Given the description of an element on the screen output the (x, y) to click on. 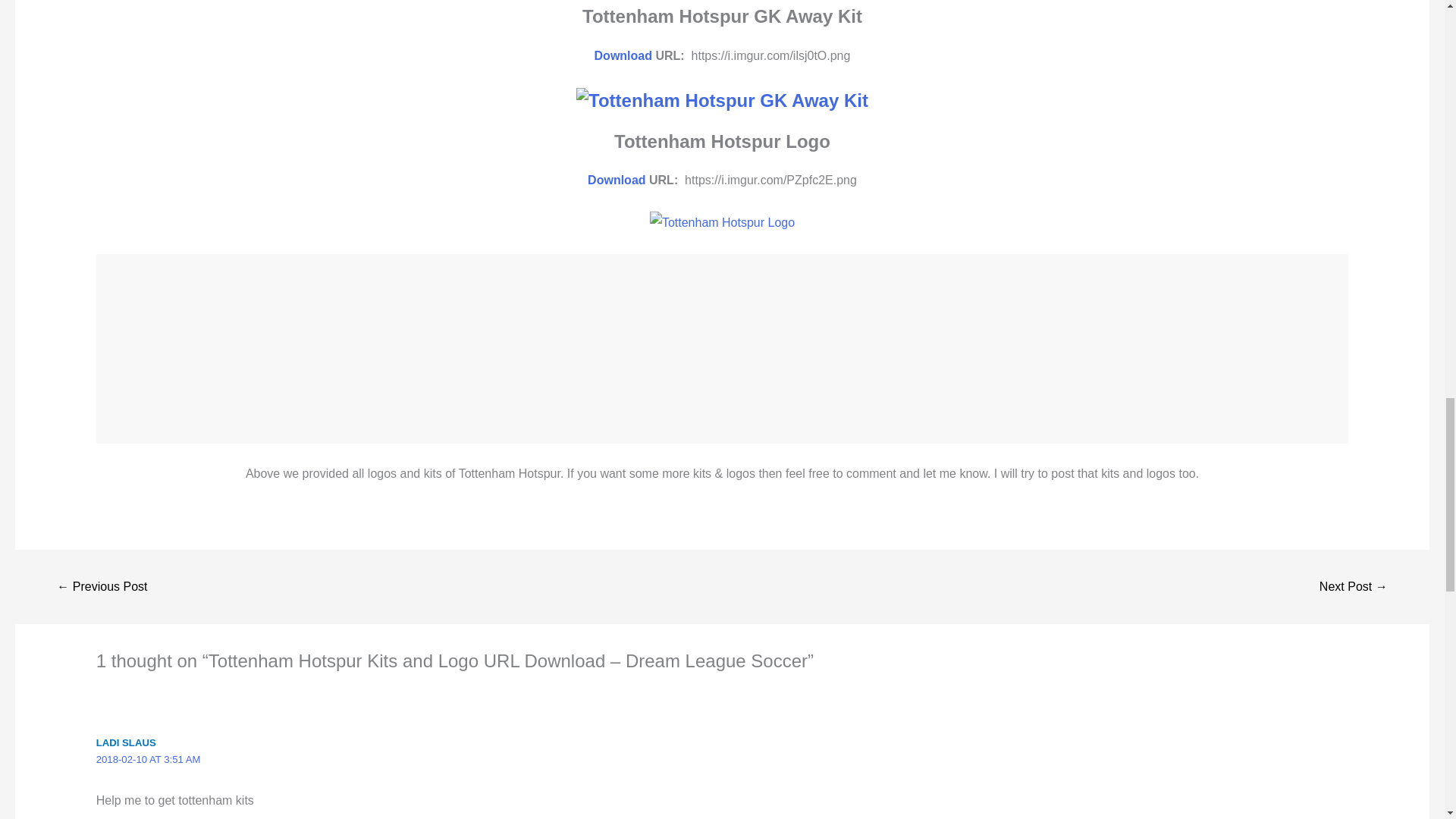
Download (623, 55)
Download (616, 179)
2018-02-10 AT 3:51 AM (148, 758)
